Given the description of an element on the screen output the (x, y) to click on. 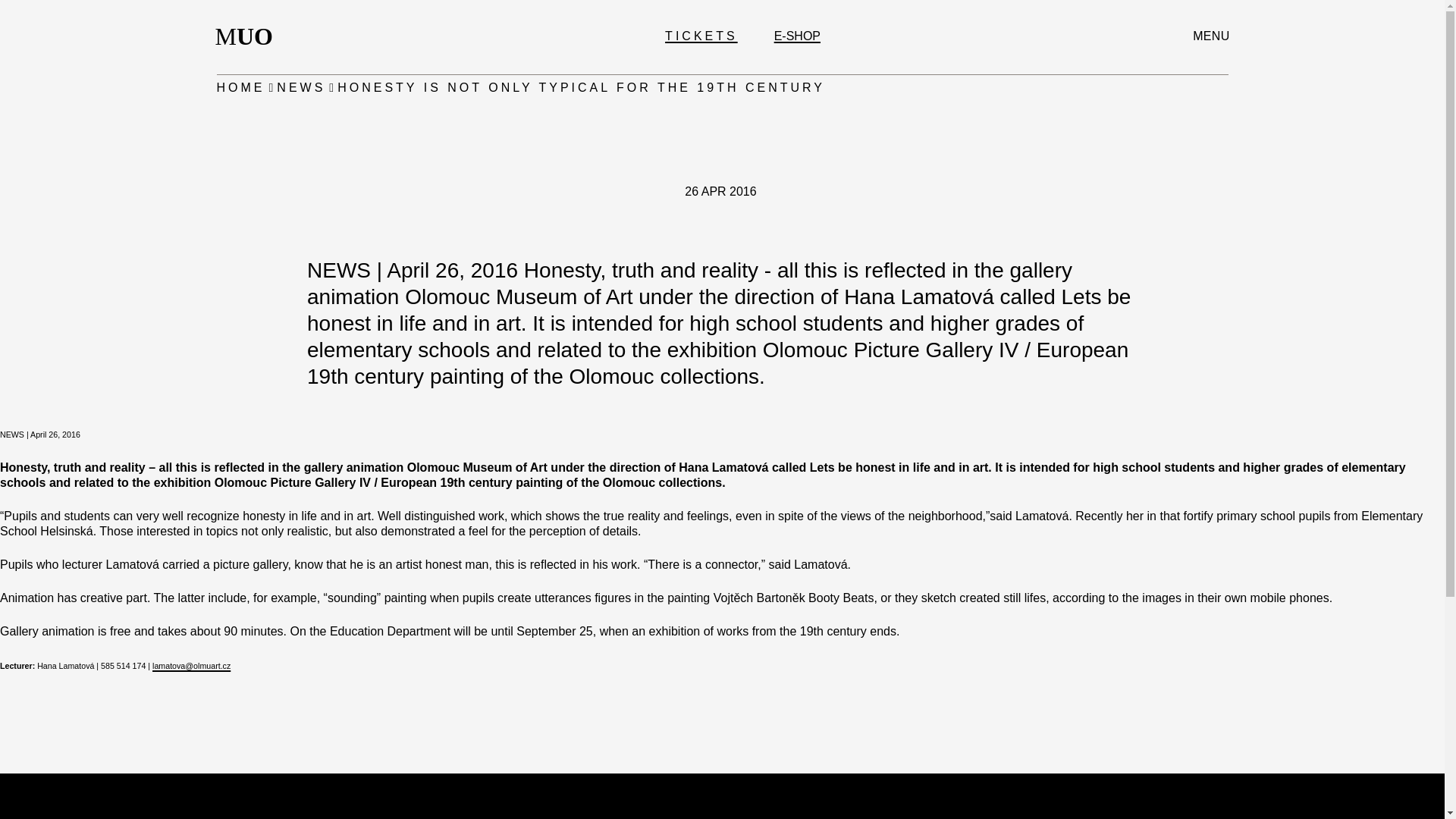
E-SHOP (797, 35)
NEWS (300, 88)
TICKETS (248, 36)
HOME (701, 35)
